Given the description of an element on the screen output the (x, y) to click on. 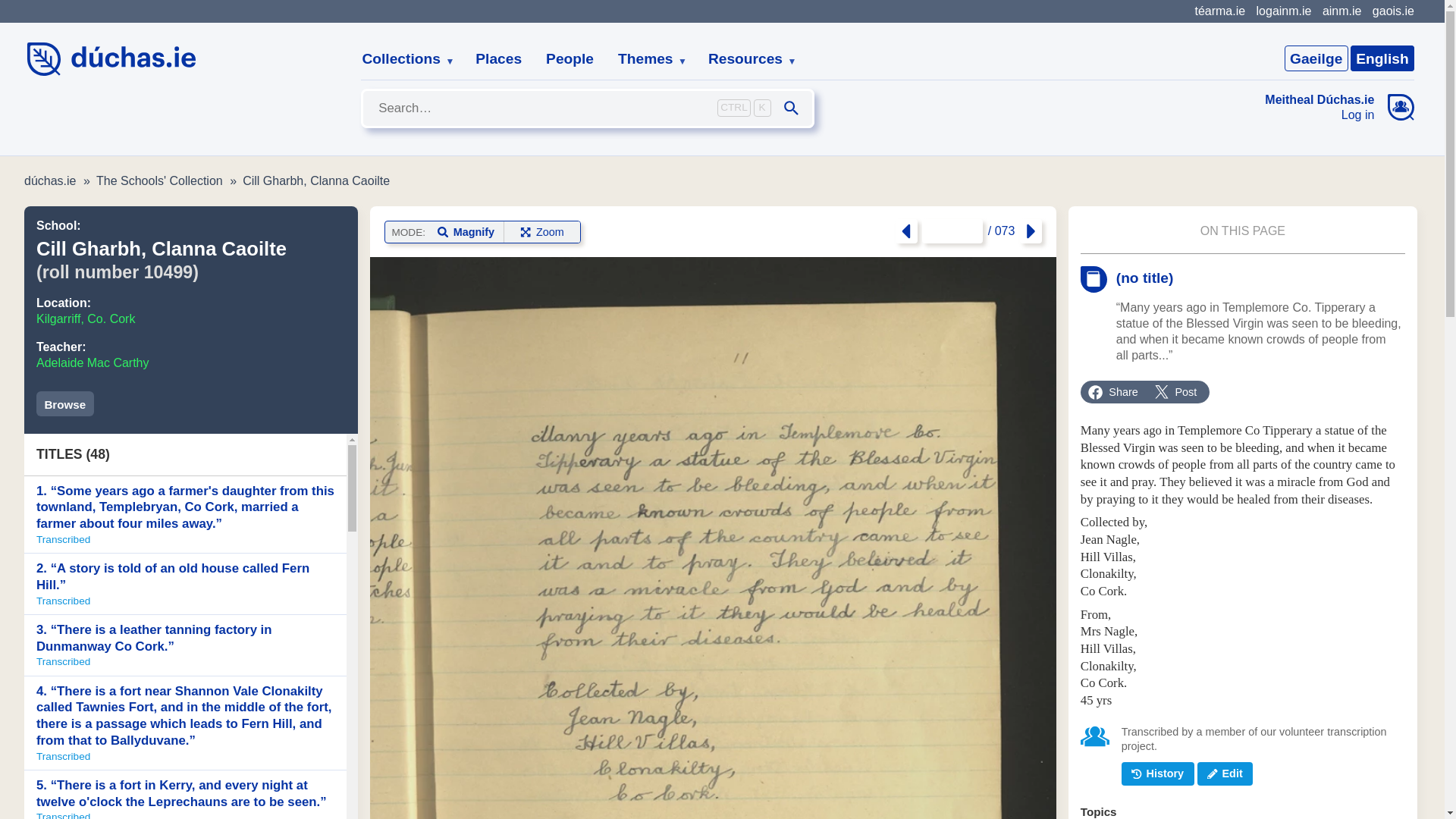
Collections (401, 59)
ainm.ie (1341, 11)
Themes (646, 59)
People (569, 58)
The Schools' Collection (159, 180)
Gaeilge (1316, 58)
Resources (745, 59)
Adelaide Mac Carthy (92, 362)
gaois.ie (1393, 11)
Browse (65, 403)
